Given the description of an element on the screen output the (x, y) to click on. 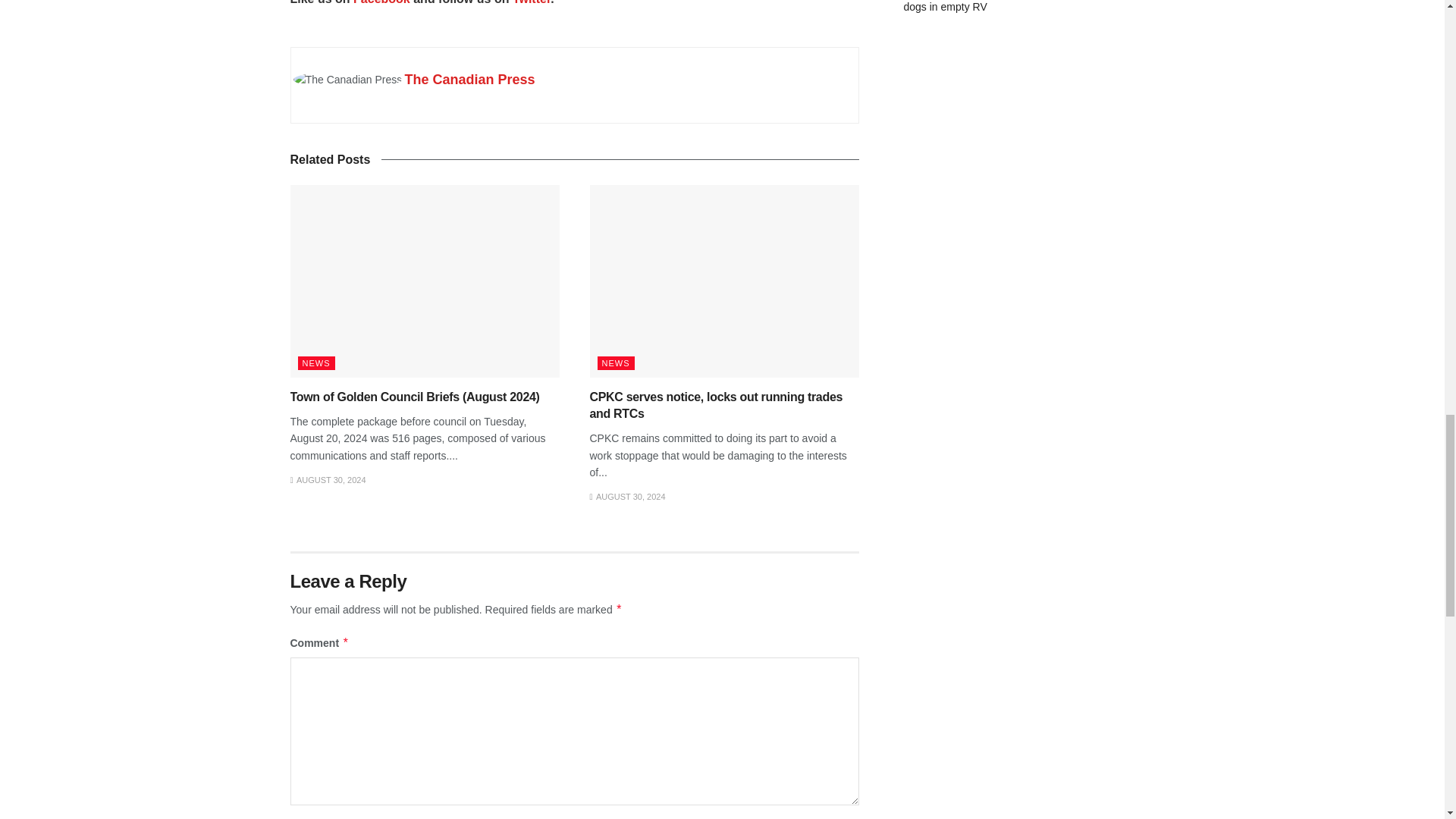
3rd party ad content (1023, 152)
Facebook (381, 2)
Twitter (531, 2)
